Given the description of an element on the screen output the (x, y) to click on. 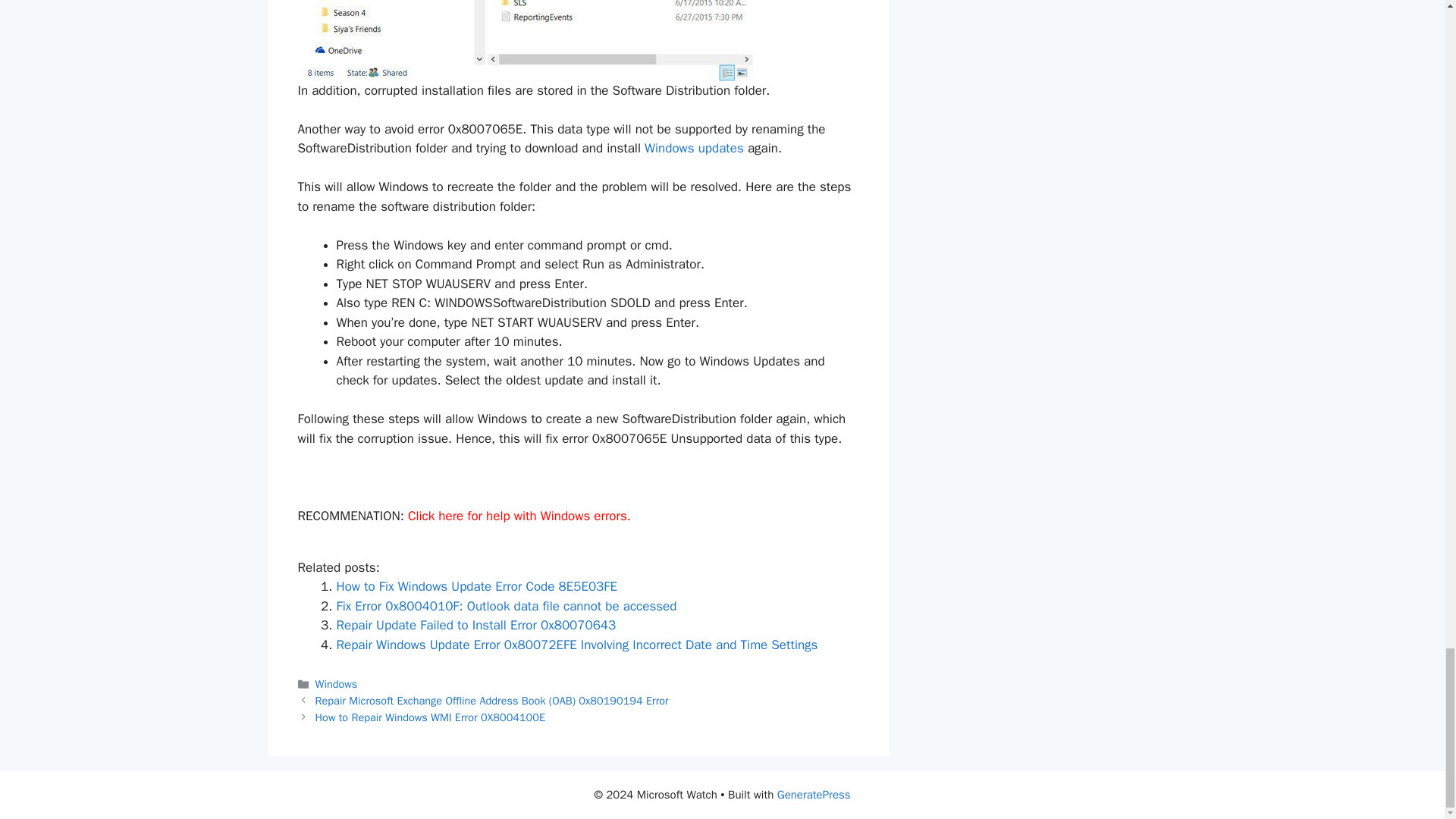
How to Fix Windows Update Error Code 8E5E03FE (476, 586)
Windows (336, 684)
Windows updates (694, 148)
GeneratePress (813, 794)
How to Fix Windows Update Error Code 8E5E03FE (476, 586)
Fix Error 0x8004010F: Outlook data file cannot be accessed (506, 606)
Click here for help with Windows errors. (518, 515)
Fix Error 0x8004010F: Outlook data file cannot be accessed (506, 606)
